Given the description of an element on the screen output the (x, y) to click on. 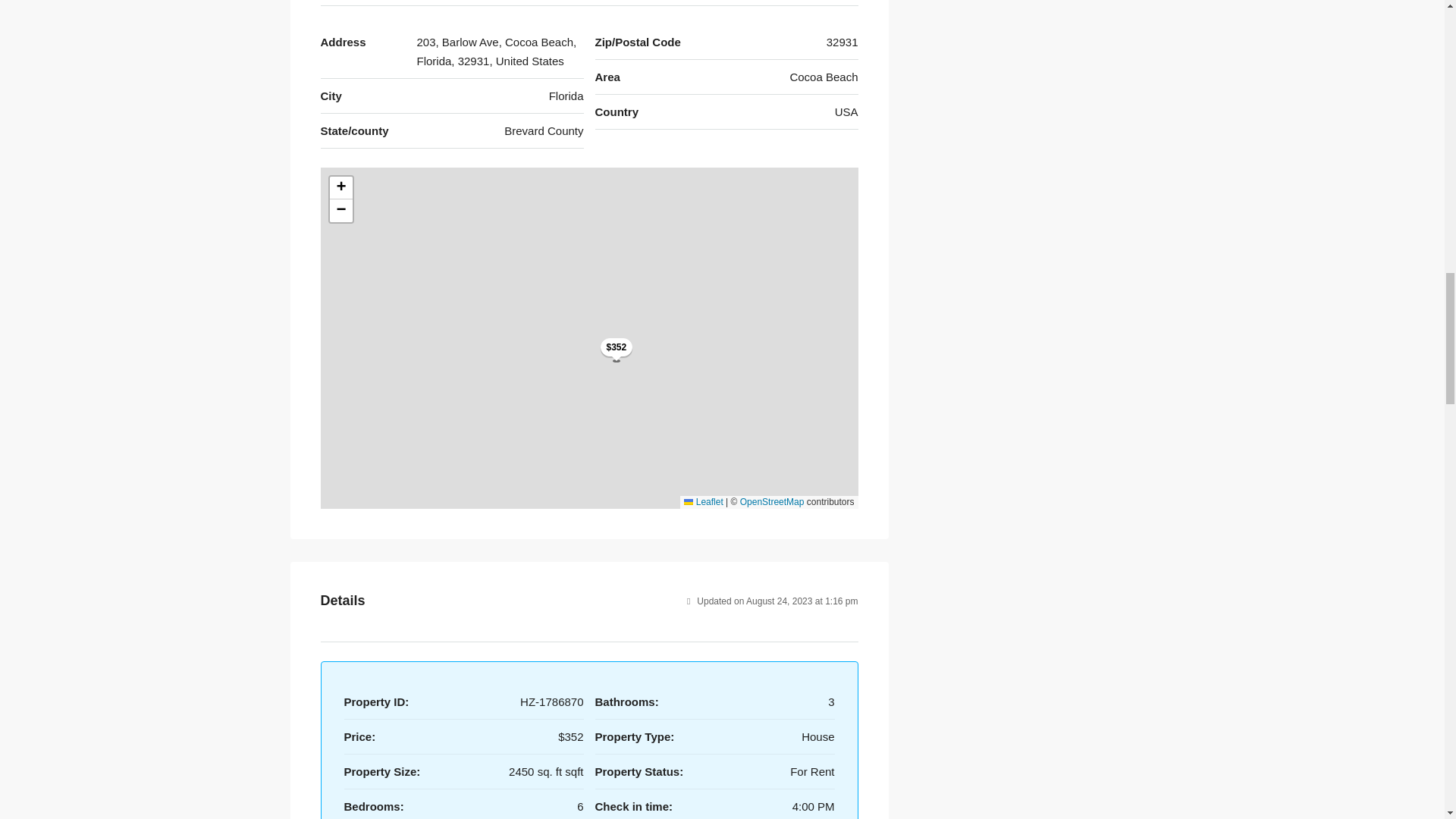
Zoom in (340, 187)
A JavaScript library for interactive maps (703, 501)
Zoom out (340, 210)
